Given the description of an element on the screen output the (x, y) to click on. 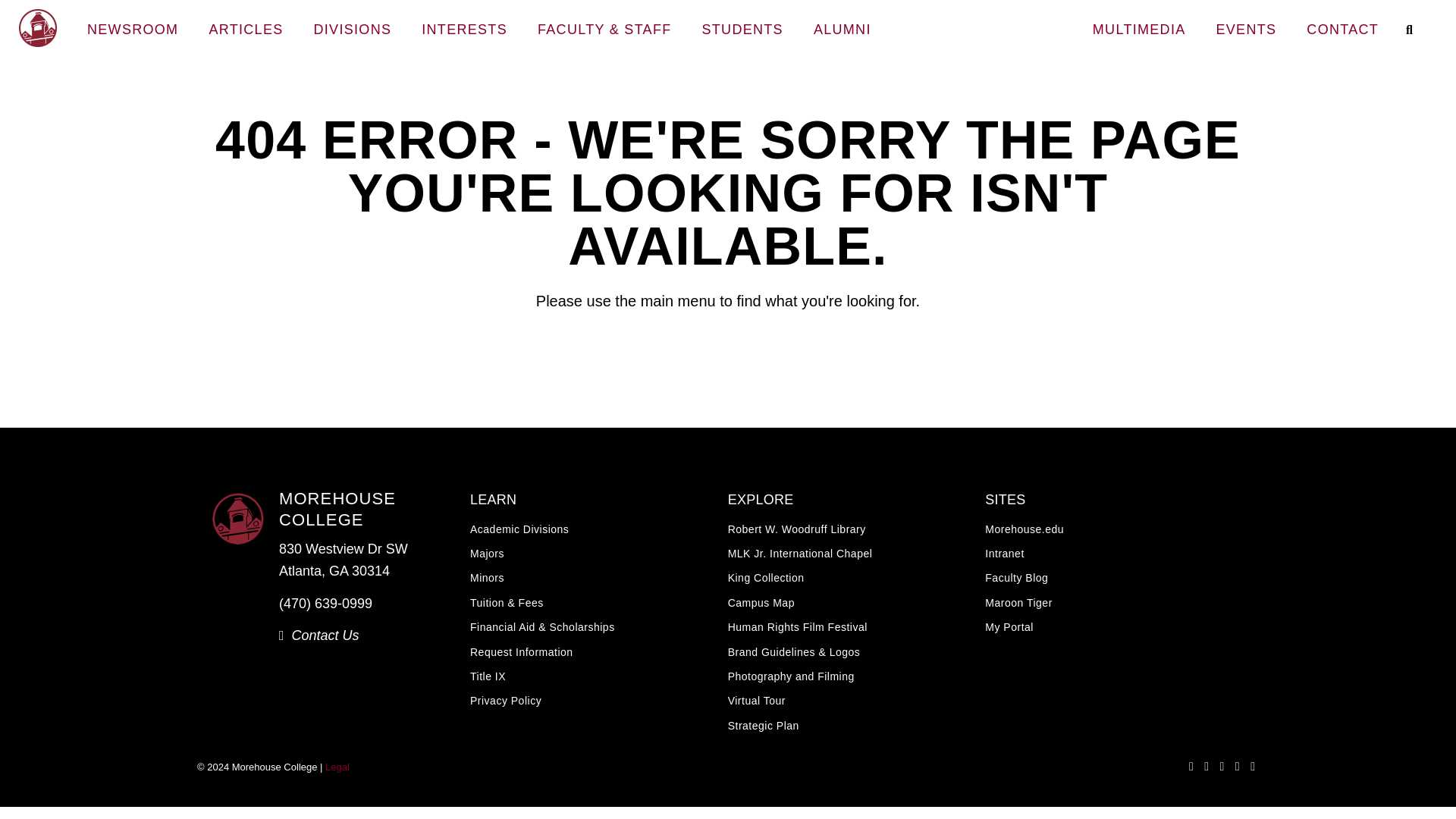
STUDENTS (742, 29)
MULTIMEDIA (1139, 29)
NEWSROOM (132, 29)
DIVISIONS (352, 29)
ARTICLES (245, 29)
INTERESTS (464, 29)
ALUMNI (841, 29)
